Given the description of an element on the screen output the (x, y) to click on. 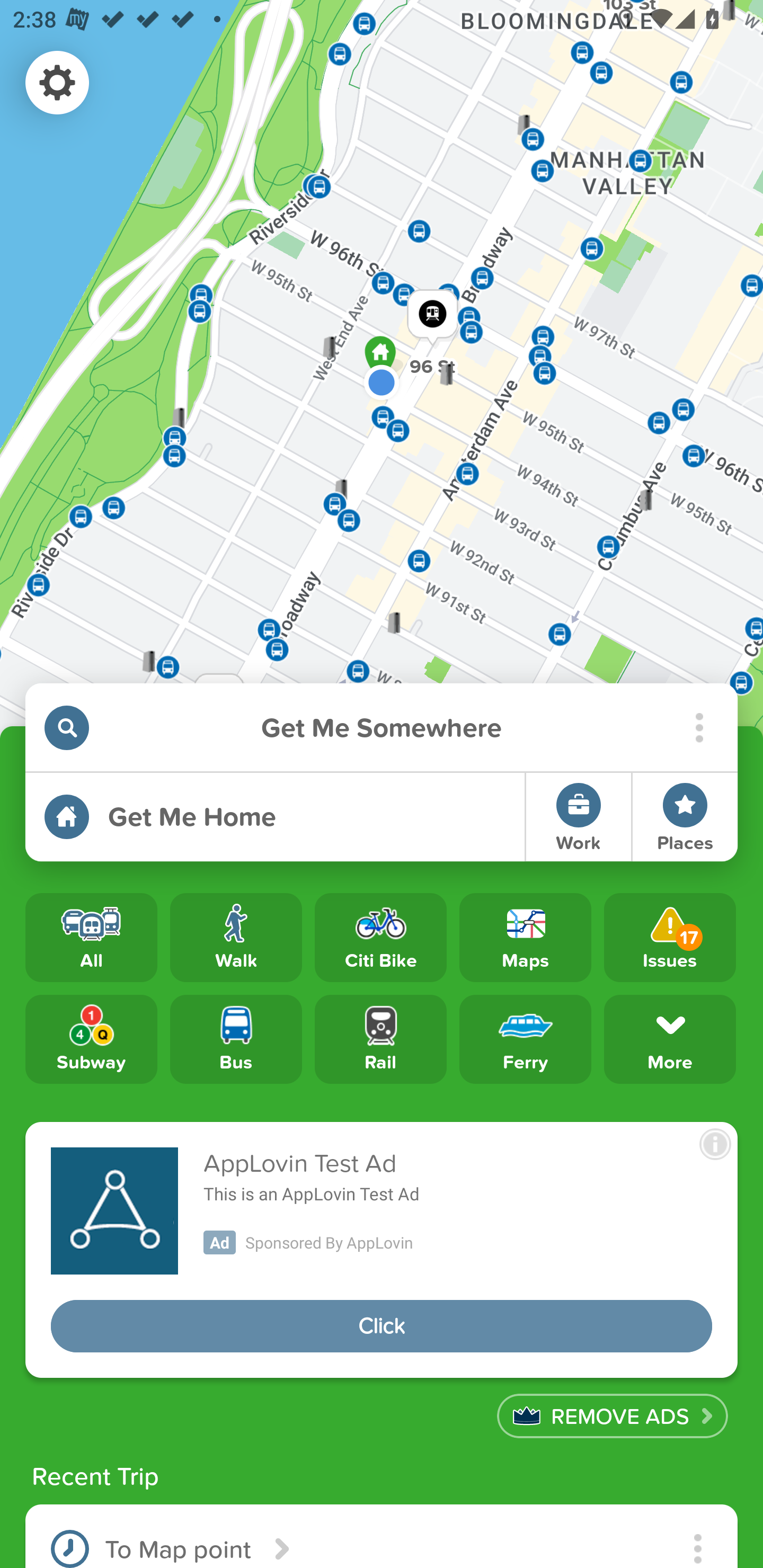
More (670, 1038)
